Given the description of an element on the screen output the (x, y) to click on. 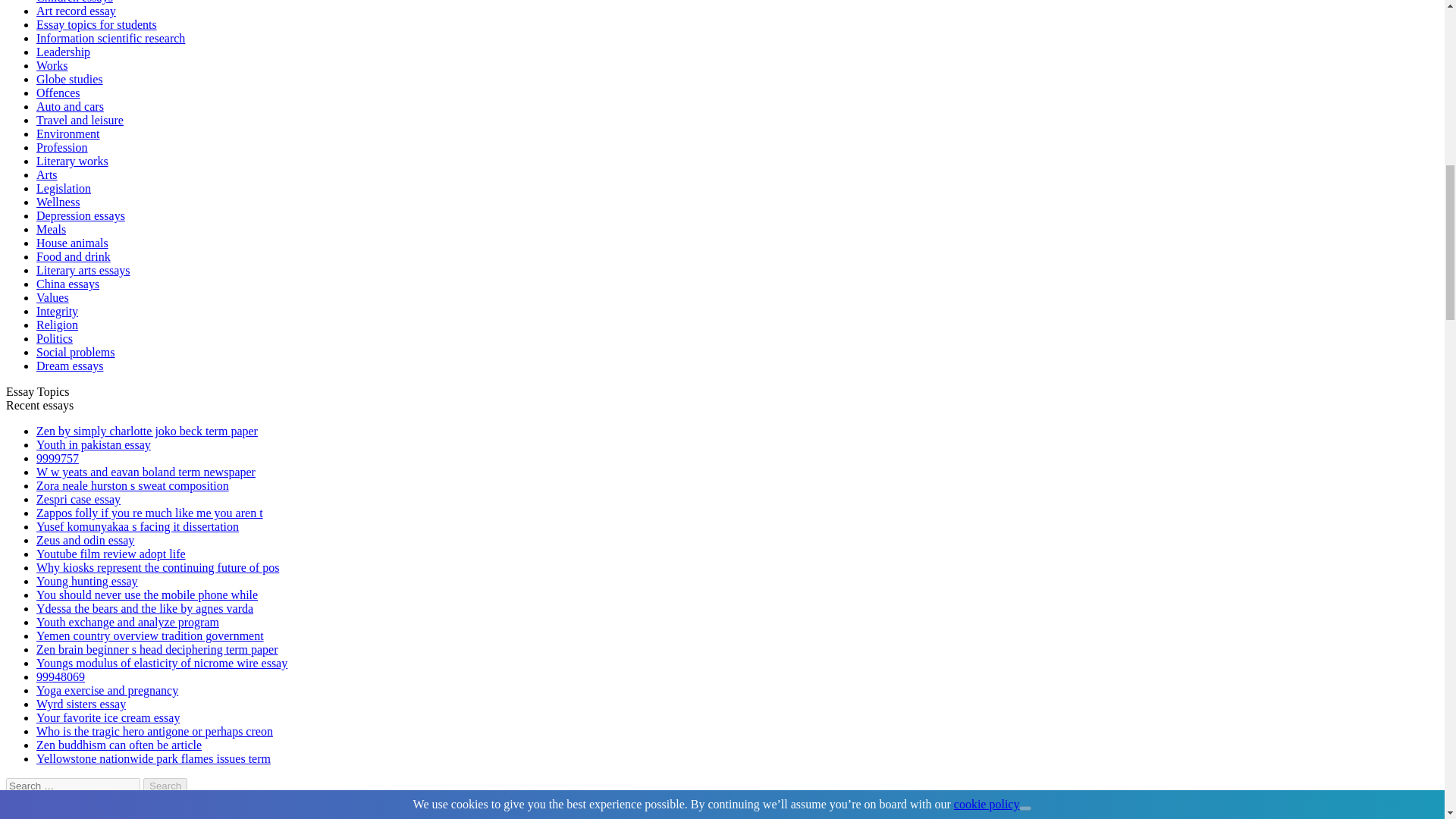
Children essays (74, 2)
Environment (68, 133)
Leadership (63, 51)
Profession (61, 146)
Search (164, 785)
Travel and leisure (79, 119)
Art record essay (76, 10)
Auto and cars (69, 106)
Globe studies (69, 78)
Essay topics for students (96, 24)
